Given the description of an element on the screen output the (x, y) to click on. 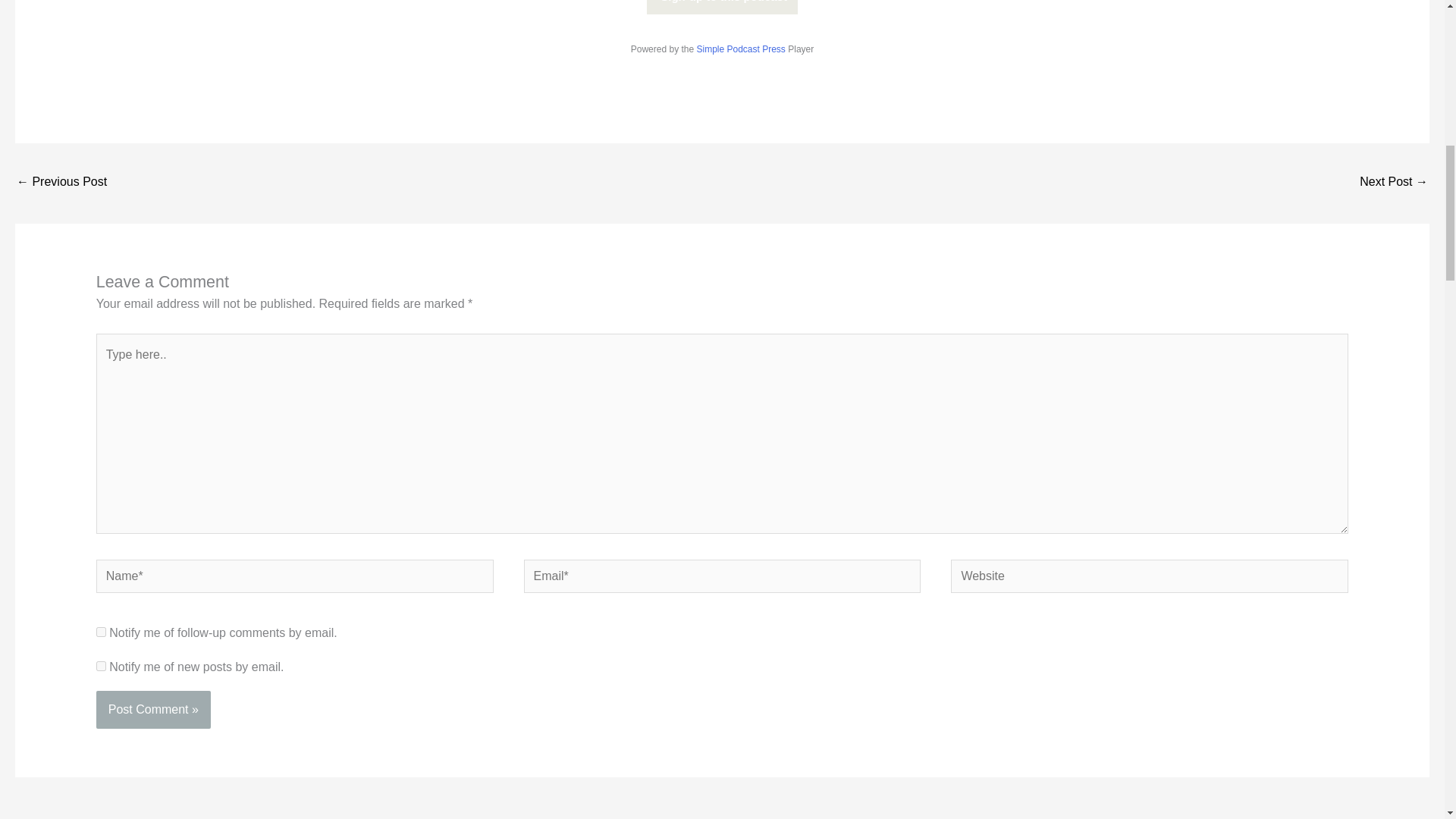
subscribe (101, 632)
The Untold Truth About Yoga Part 2 (61, 182)
 Sign-up to this podcast (721, 7)
subscribe (101, 665)
